Given the description of an element on the screen output the (x, y) to click on. 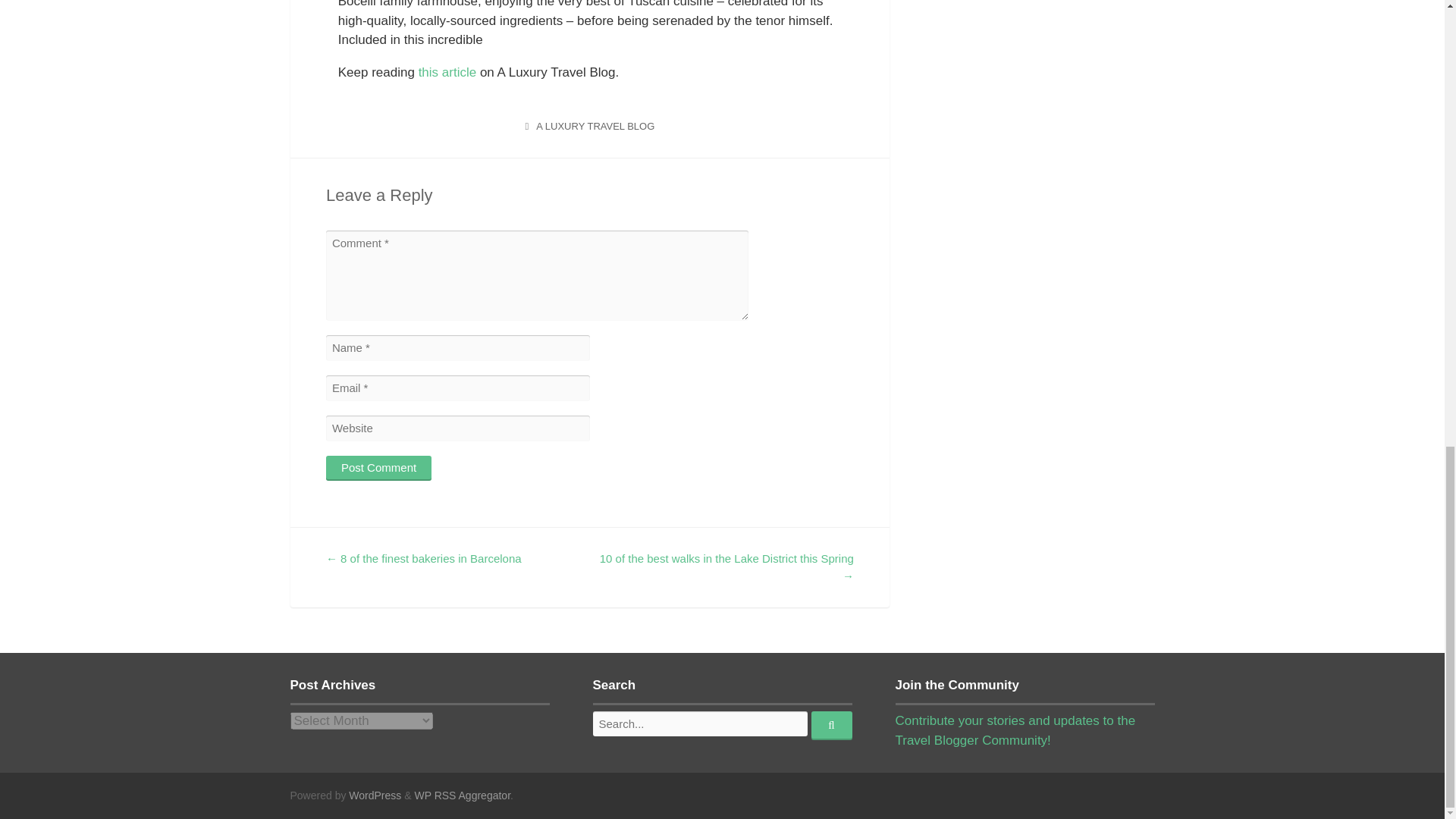
Search for: (700, 723)
WordPress (375, 795)
A LUXURY TRAVEL BLOG (594, 125)
Search... (830, 725)
WP RSS Aggregator (462, 795)
Post Comment (378, 467)
Post Comment (378, 467)
this article (448, 72)
